Given the description of an element on the screen output the (x, y) to click on. 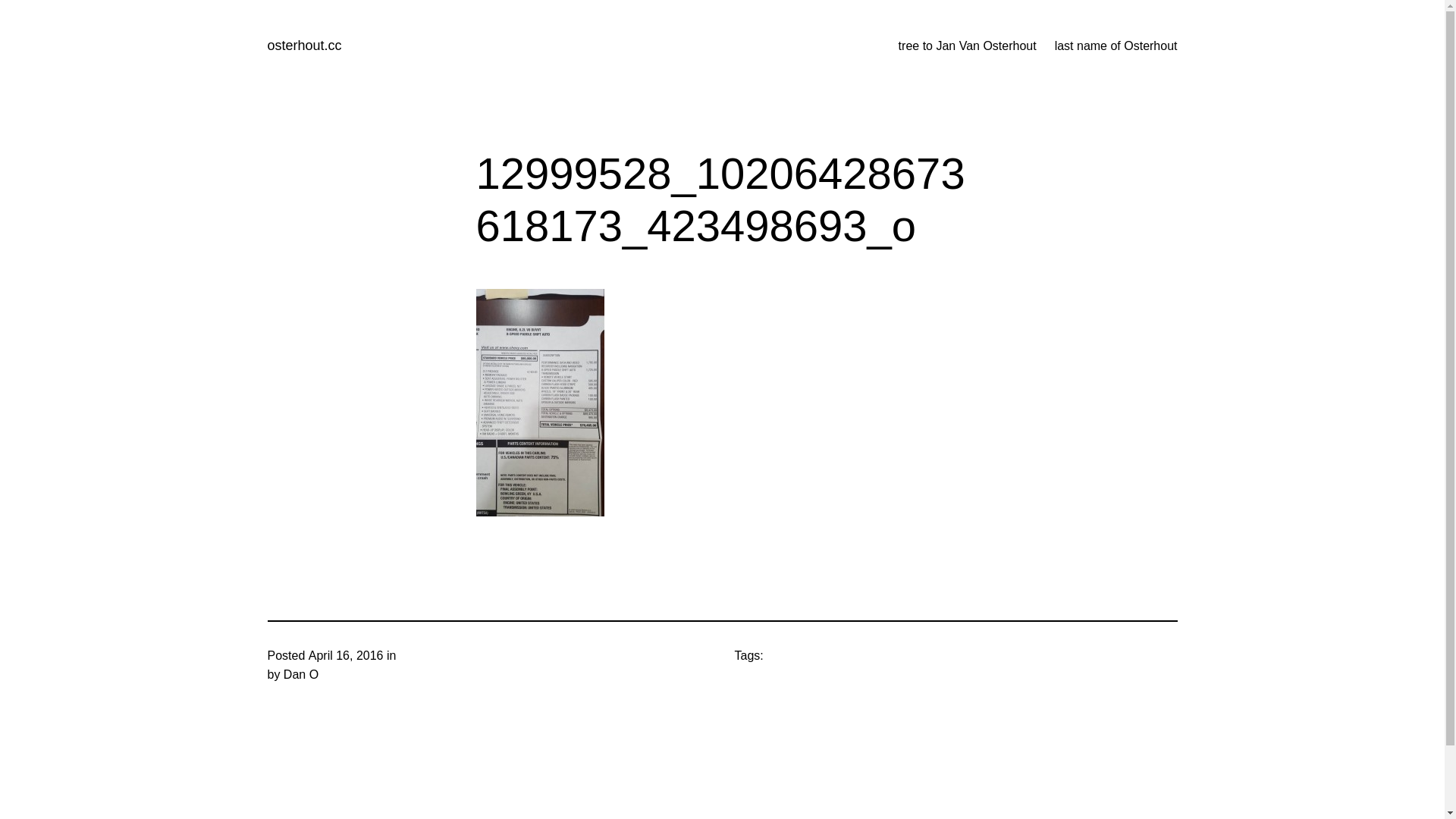
osterhout.cc Element type: text (303, 45)
tree to Jan Van Osterhout Element type: text (967, 46)
last name of Osterhout Element type: text (1115, 46)
